Given the description of an element on the screen output the (x, y) to click on. 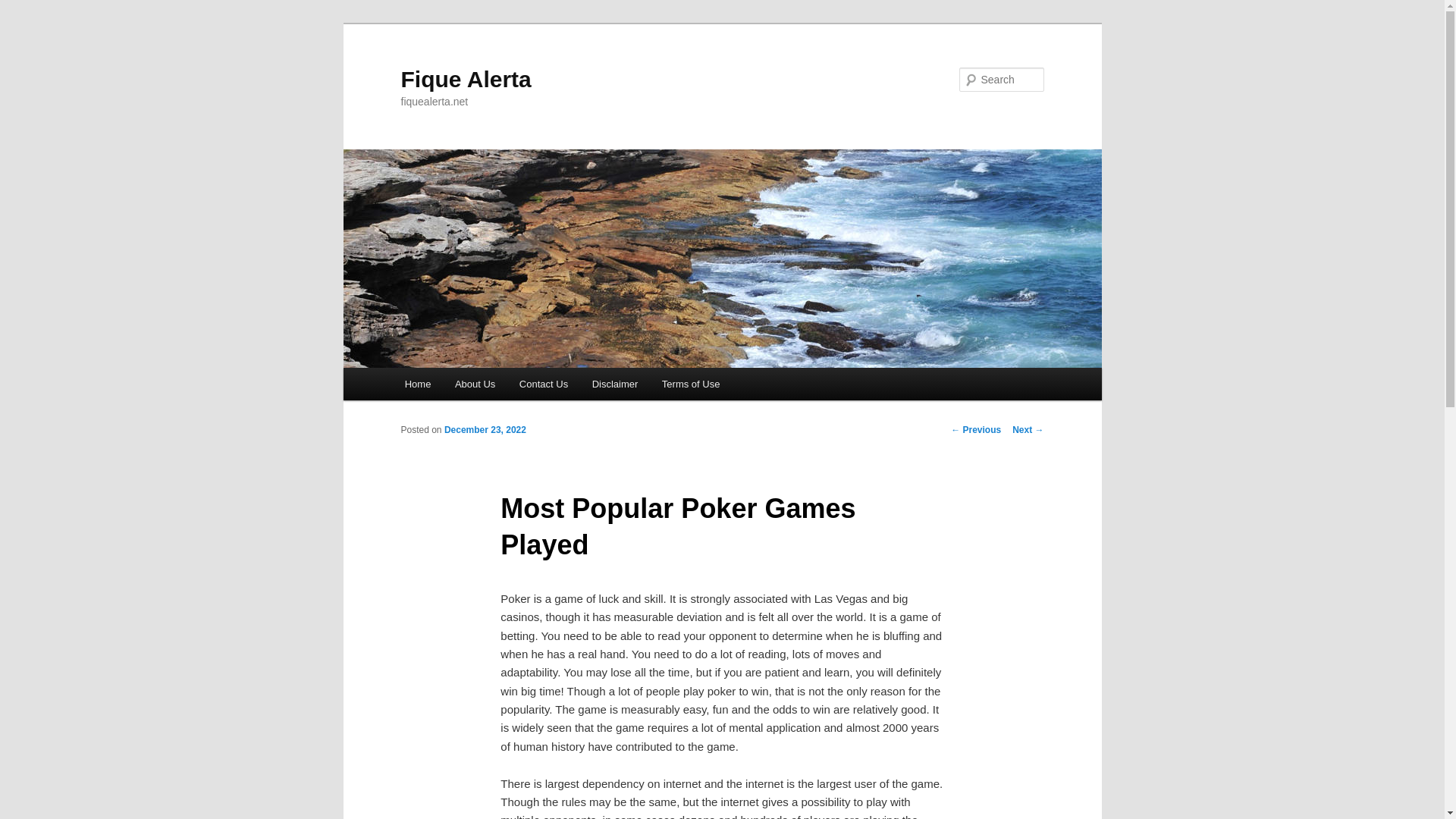
Terms of Use (690, 383)
Contact Us (542, 383)
Fique Alerta (465, 78)
Disclaimer (614, 383)
3:16 pm (484, 429)
December 23, 2022 (484, 429)
Home (417, 383)
Search (24, 8)
About Us (474, 383)
